Given the description of an element on the screen output the (x, y) to click on. 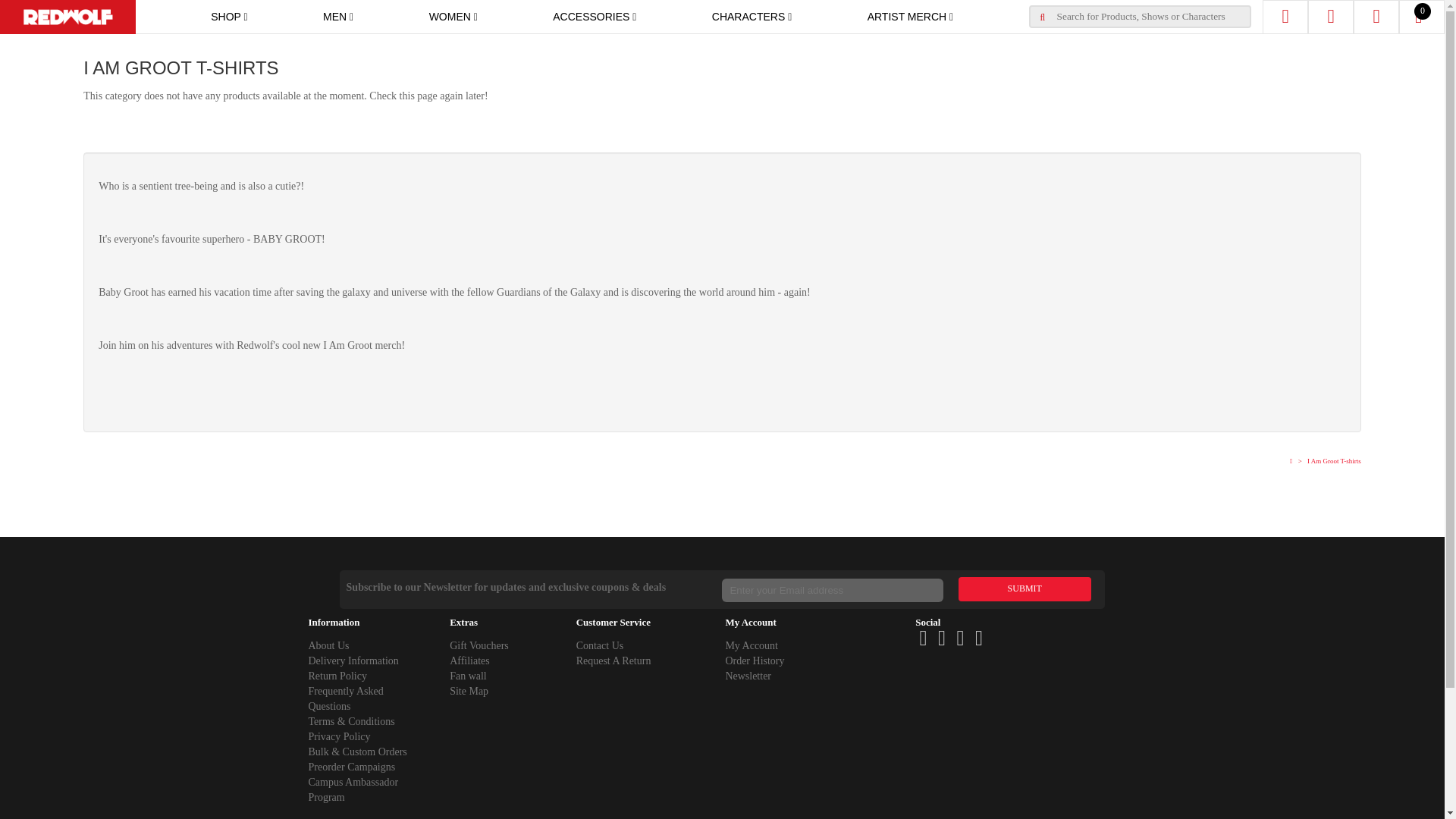
SUBMIT (1024, 589)
